Given the description of an element on the screen output the (x, y) to click on. 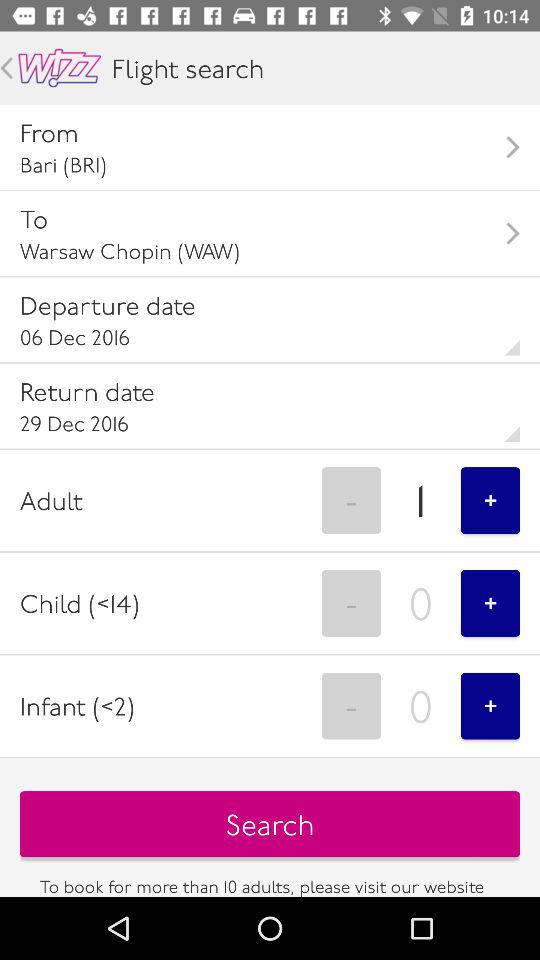
choose icon to the right of the 1 item (490, 500)
